Given the description of an element on the screen output the (x, y) to click on. 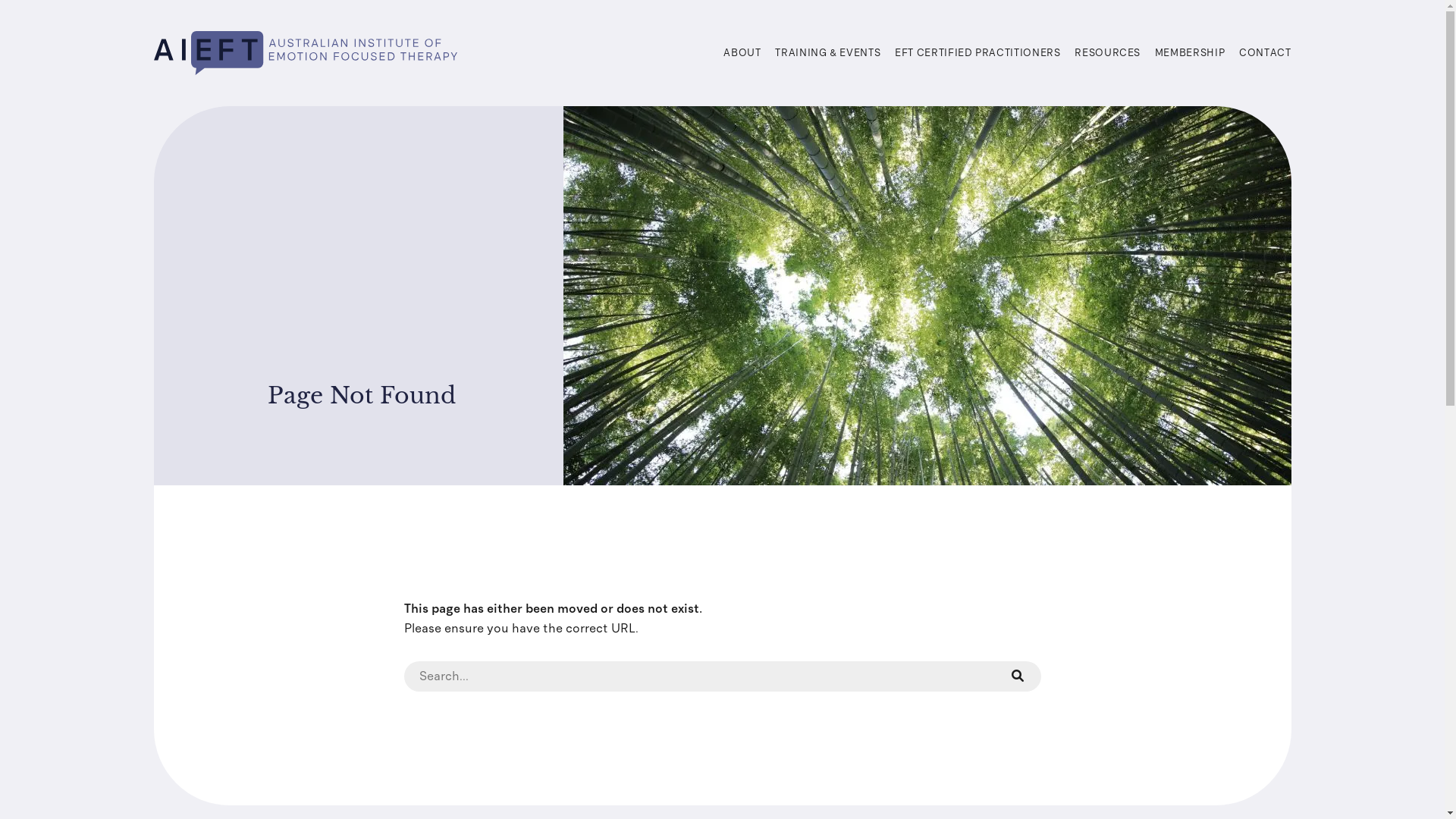
ABOUT Element type: text (741, 52)
EFT CERTIFIED PRACTITIONERS Element type: text (977, 52)
RESOURCES Element type: text (1107, 52)
MEMBERSHIP Element type: text (1189, 52)
CONTACT Element type: text (1265, 52)
TRAINING & EVENTS Element type: text (827, 52)
